Given the description of an element on the screen output the (x, y) to click on. 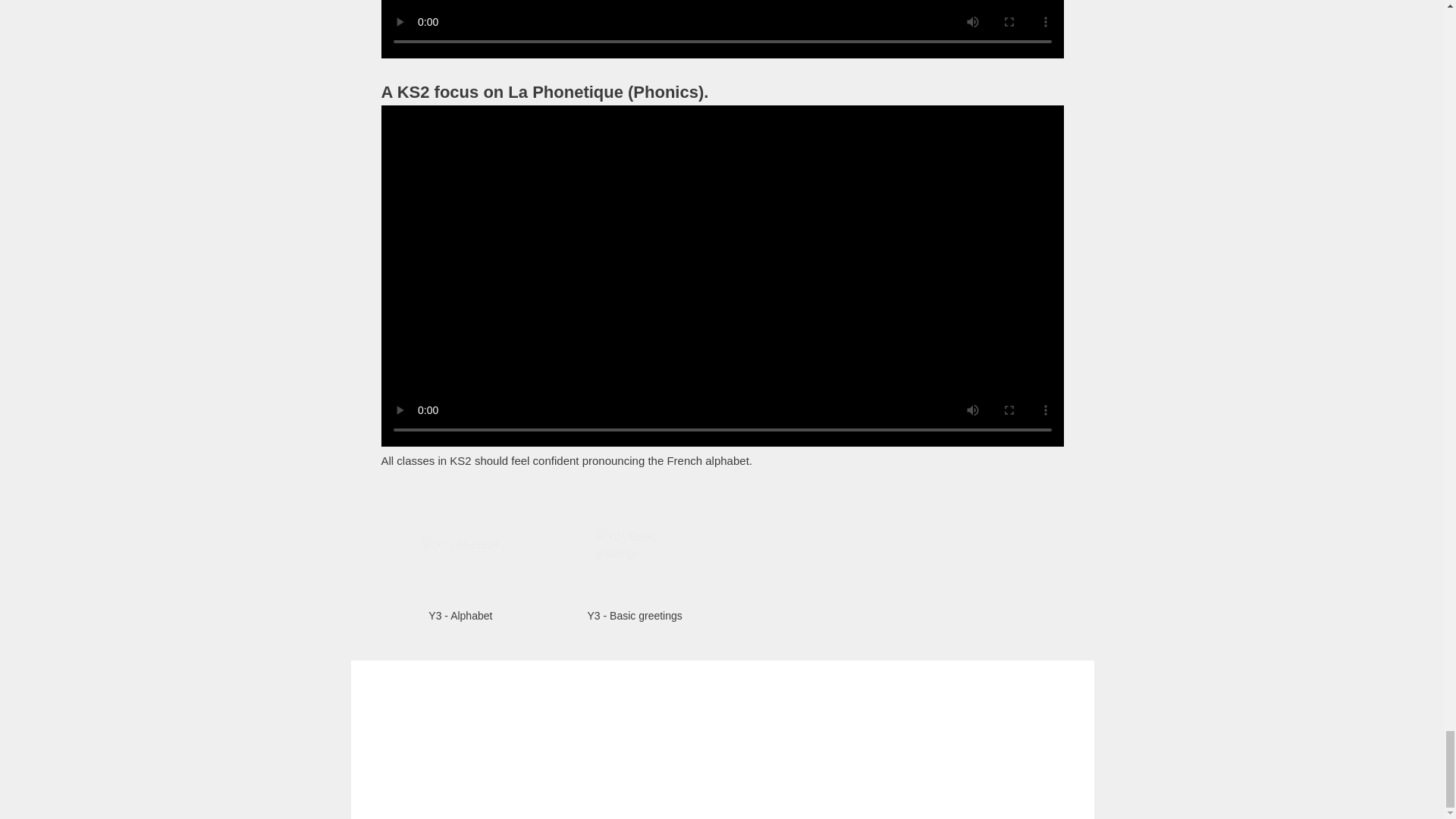
View large version of image (634, 544)
View large version of image (460, 544)
